Given the description of an element on the screen output the (x, y) to click on. 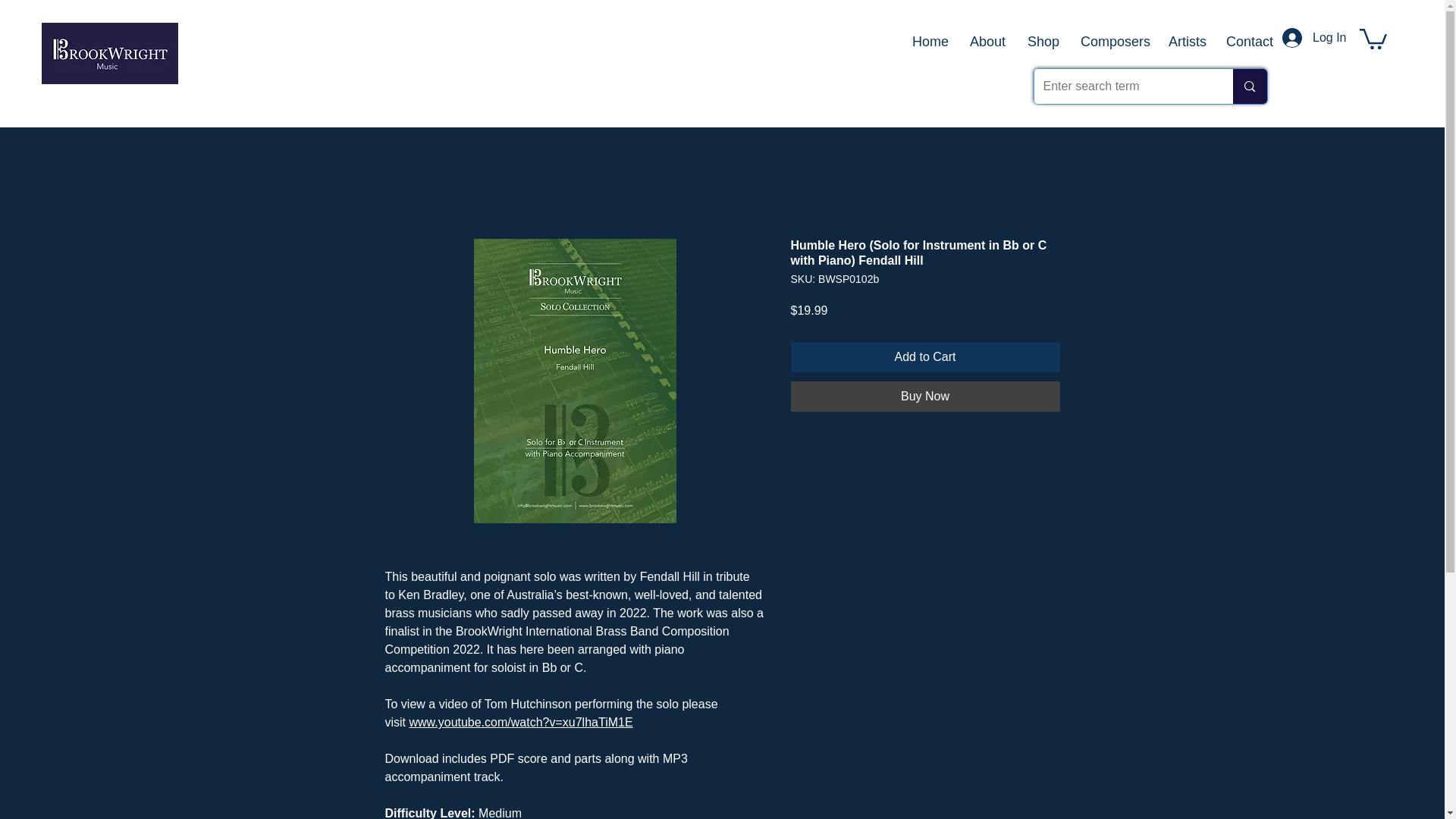
Shop (1042, 41)
Composers (1112, 41)
About (987, 41)
Buy Now (924, 396)
Contact (1248, 41)
Artists (1185, 41)
Home (929, 41)
Add to Cart (924, 357)
Log In (1303, 37)
